Given the description of an element on the screen output the (x, y) to click on. 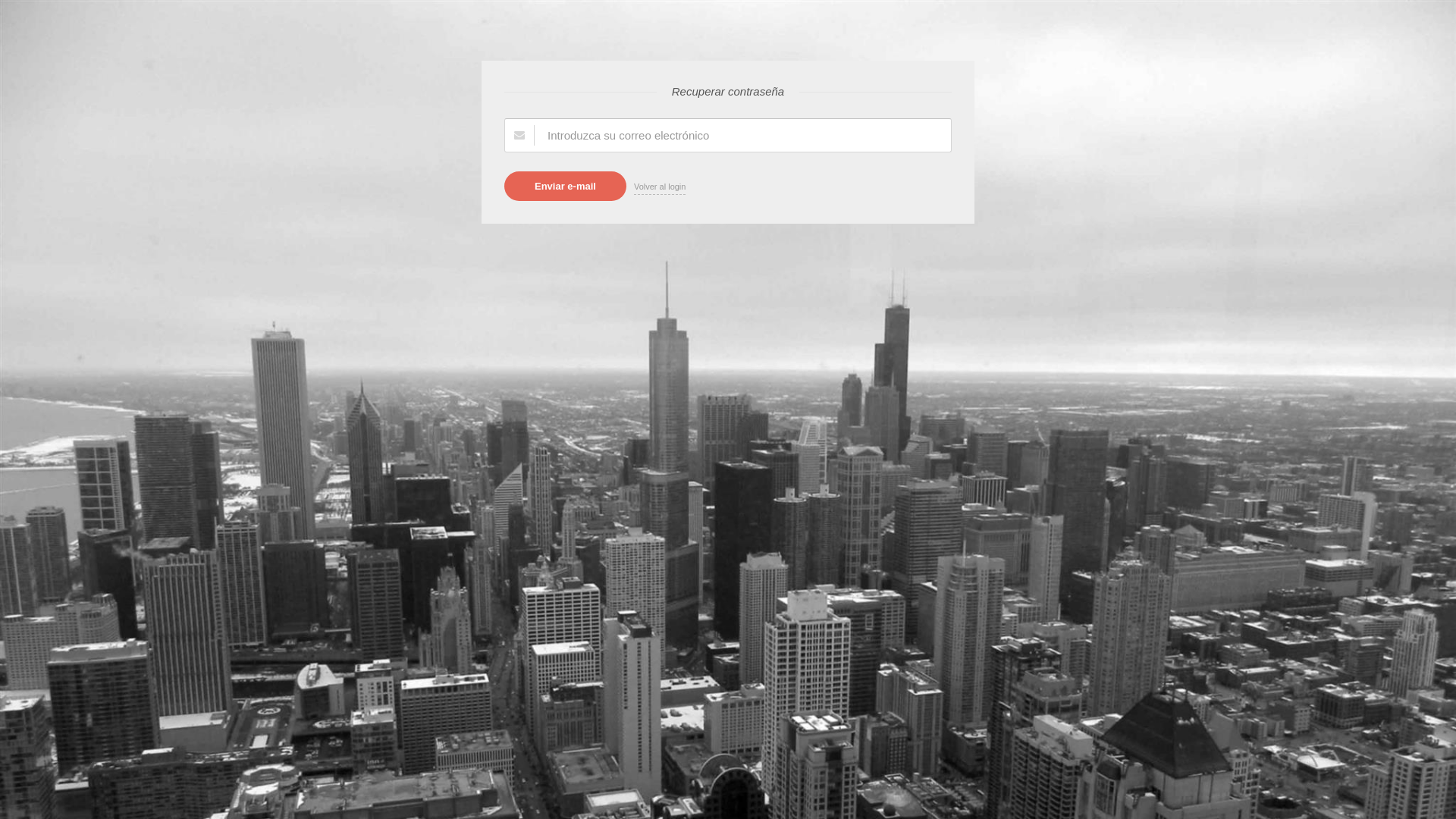
Volver al login Element type: text (659, 187)
Enviar e-mail Element type: text (565, 185)
